Given the description of an element on the screen output the (x, y) to click on. 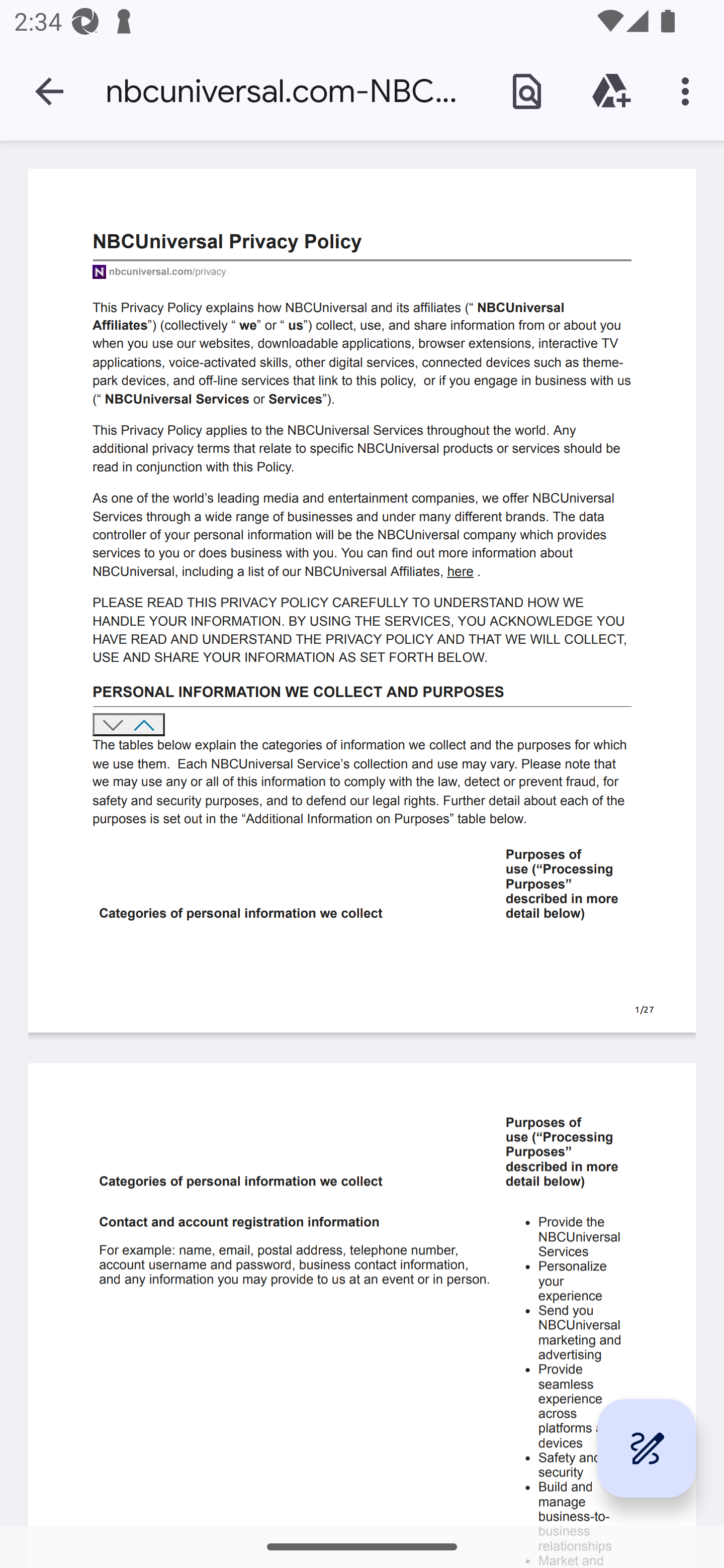
Back (49, 91)
Find (526, 90)
Add to Drive (611, 90)
More options (688, 90)
Annotation (646, 1447)
